Given the description of an element on the screen output the (x, y) to click on. 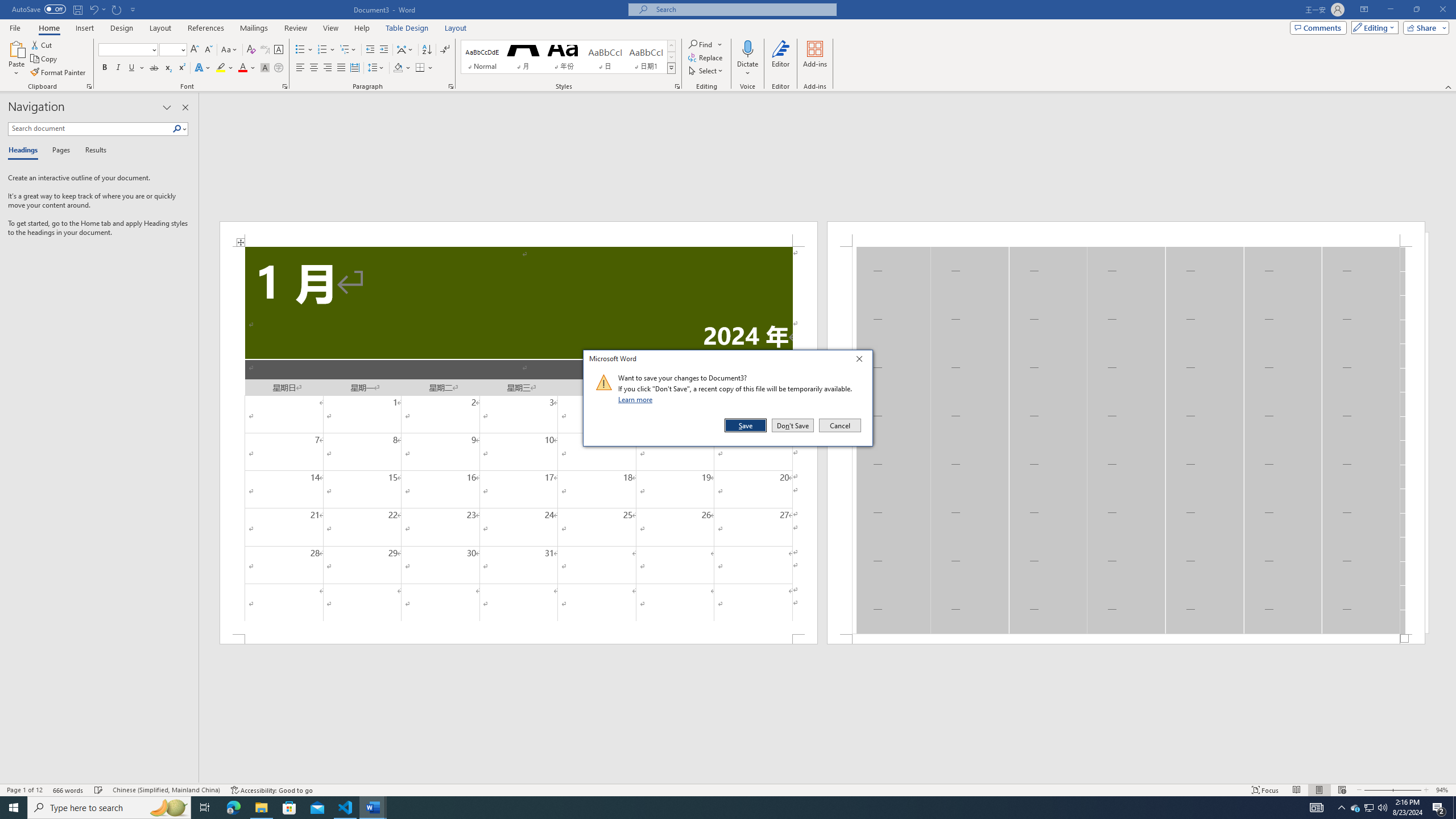
Accessibility Checker Accessibility: Good to go (271, 790)
Visual Studio Code - 1 running window (345, 807)
Cancel (839, 425)
